Given the description of an element on the screen output the (x, y) to click on. 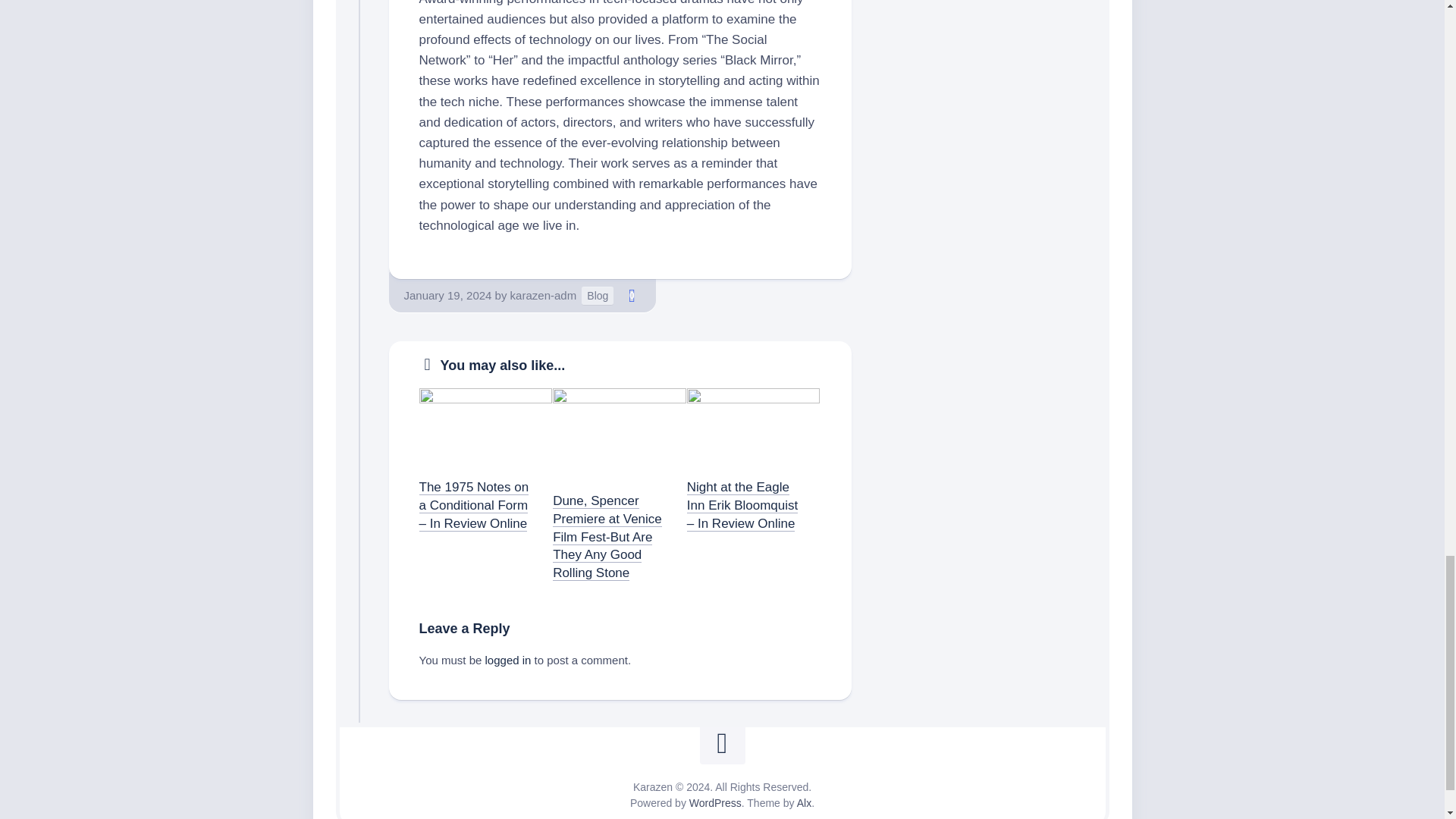
logged in (507, 659)
WordPress (714, 802)
Posts by karazen-adm (543, 295)
karazen-adm (543, 295)
Alx (803, 802)
Blog (596, 295)
0 (631, 295)
